Given the description of an element on the screen output the (x, y) to click on. 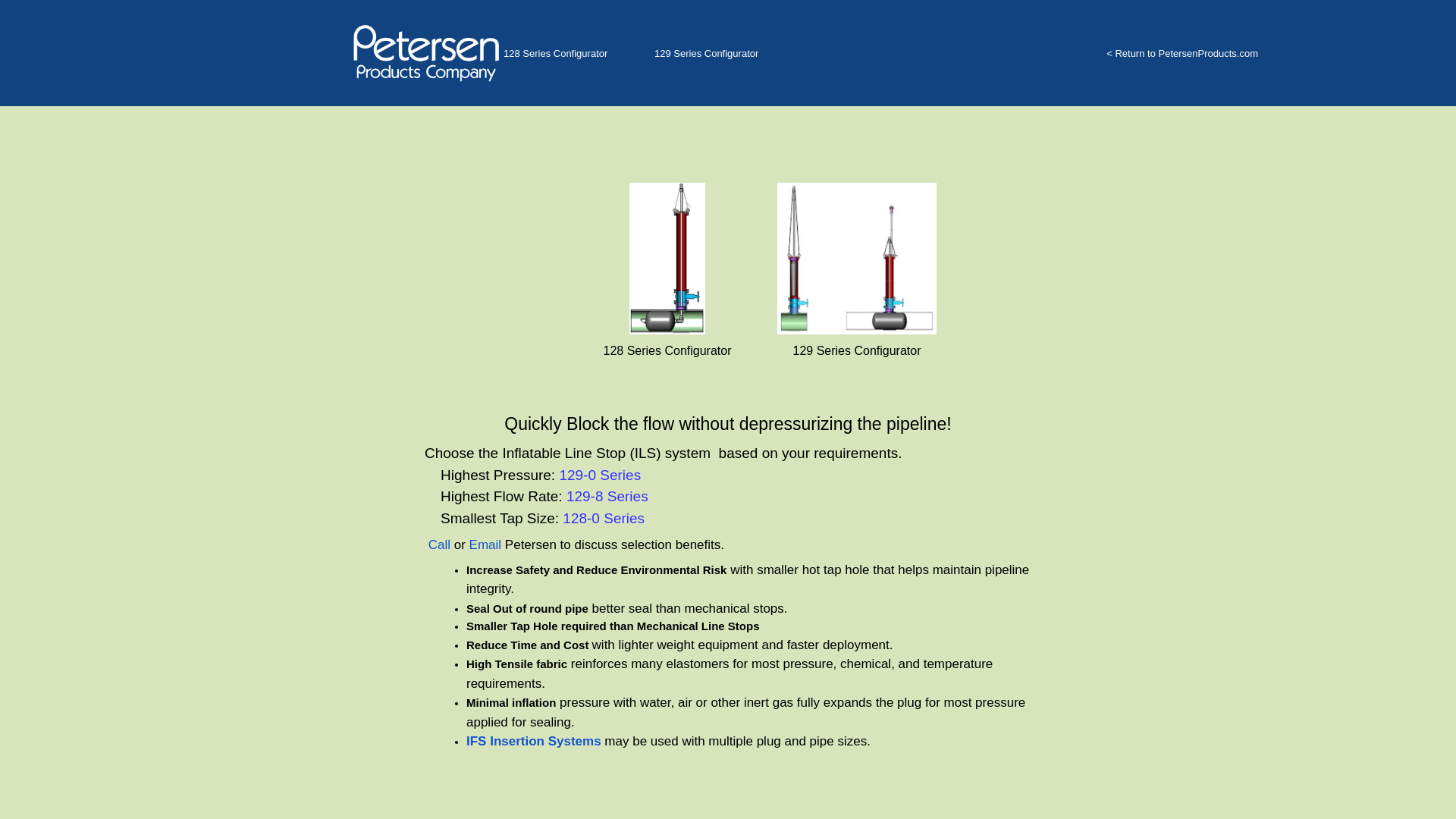
128-0 Series (603, 518)
129 Series Configurator (705, 52)
129-0 Series (599, 475)
129-8 Series (606, 496)
IFS Insertion Systems (533, 741)
Call  (441, 544)
128 Series Configurator (667, 306)
Email (485, 544)
128 Series Configurator (555, 52)
129 Series Configurator (856, 306)
